Given the description of an element on the screen output the (x, y) to click on. 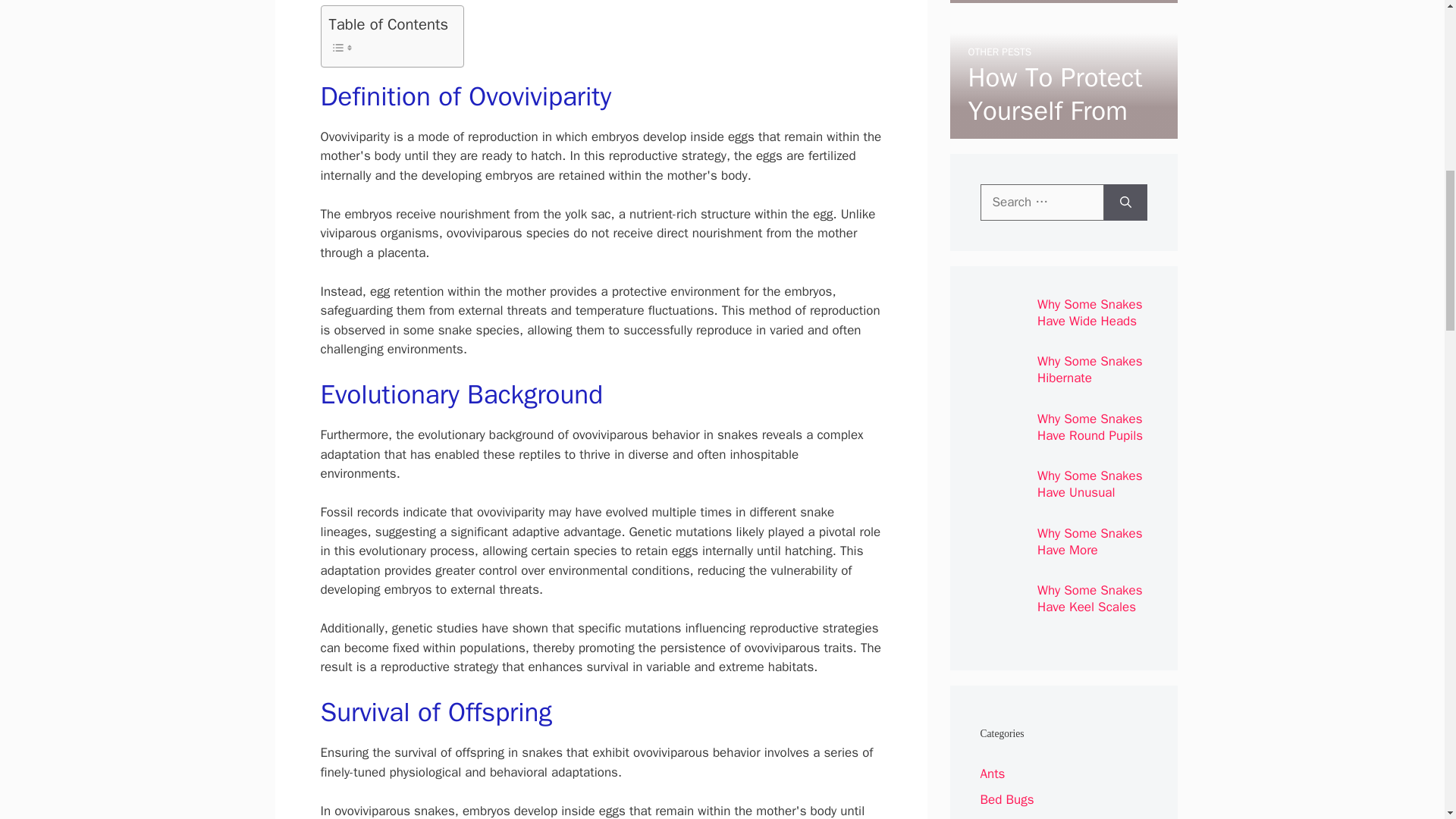
OTHER PESTS (999, 51)
Why Some Snakes Have Wide Heads (1089, 312)
How To Protect Yourself From Mosquito Bites During A Bbq (1055, 127)
Are Centipedes Related to Millipedes (1056, 12)
